Given the description of an element on the screen output the (x, y) to click on. 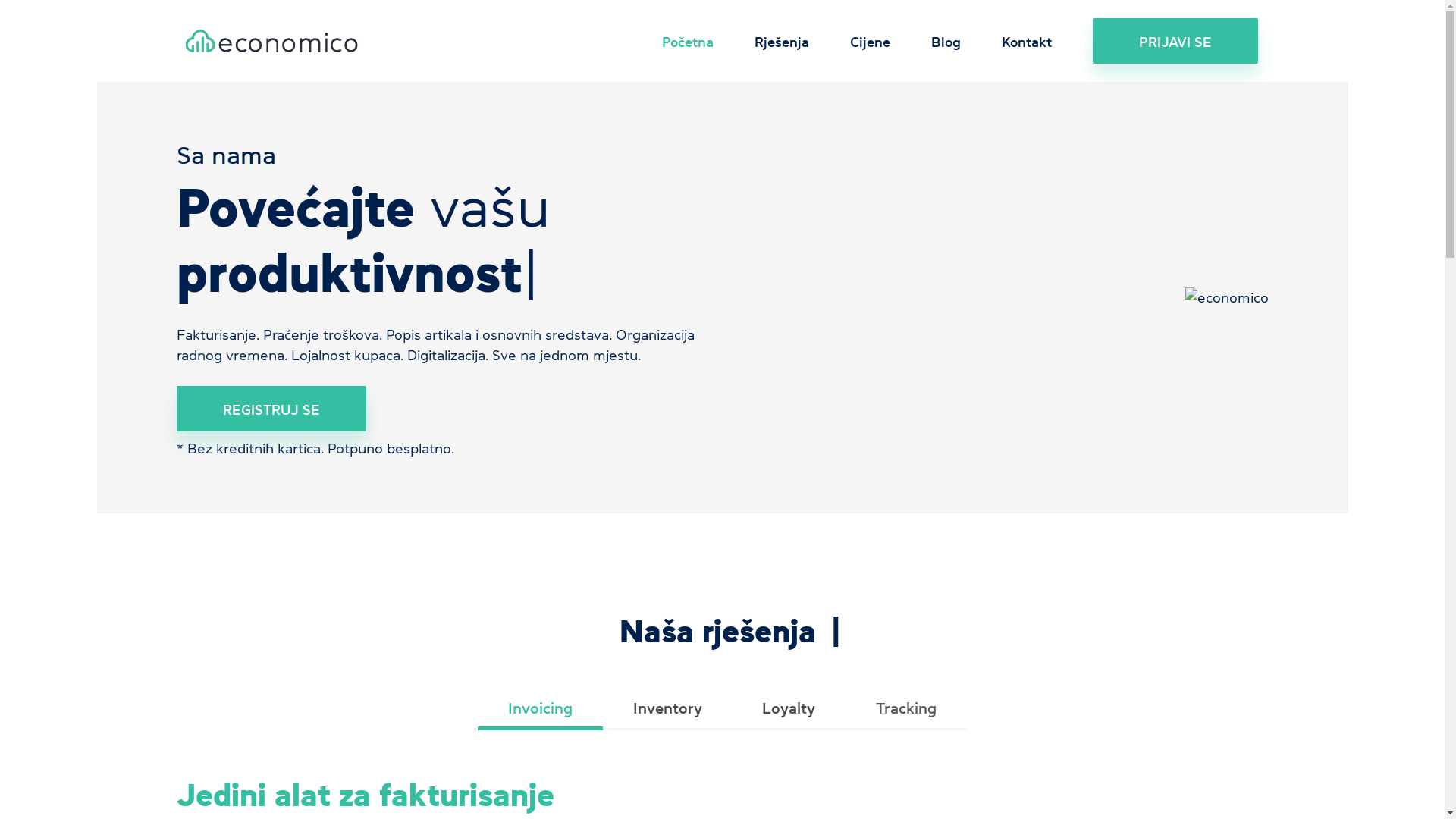
Loyalty Element type: text (789, 709)
PRIJAVI SE Element type: text (1175, 40)
Inventory Element type: text (667, 709)
Blog Element type: text (945, 40)
Tracking Element type: text (905, 709)
Invoicing Element type: text (539, 709)
REGISTRUJ SE Element type: text (270, 408)
Kontakt Element type: text (1026, 40)
Cijene Element type: text (869, 40)
